Given the description of an element on the screen output the (x, y) to click on. 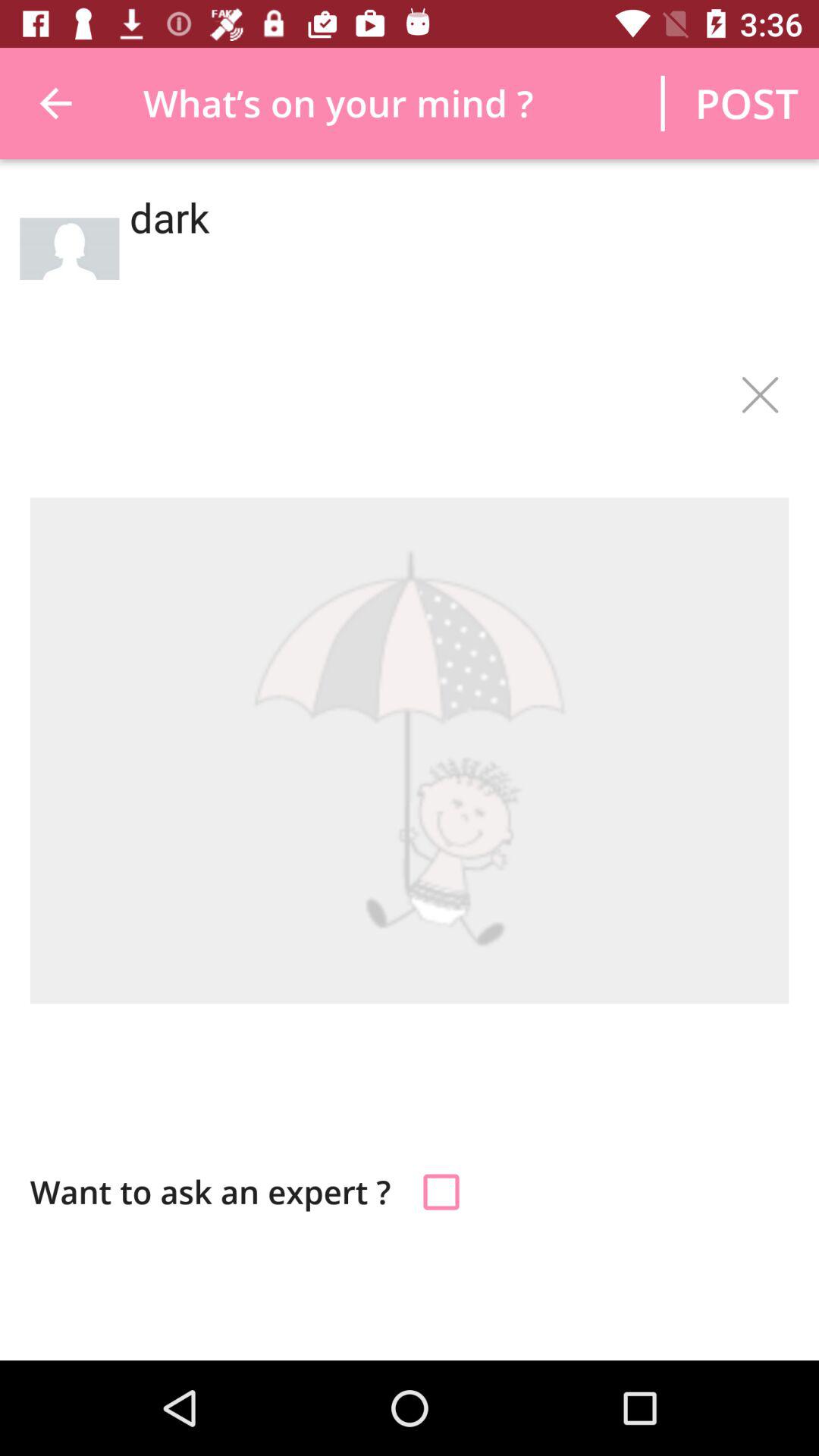
answer a question (441, 1191)
